Given the description of an element on the screen output the (x, y) to click on. 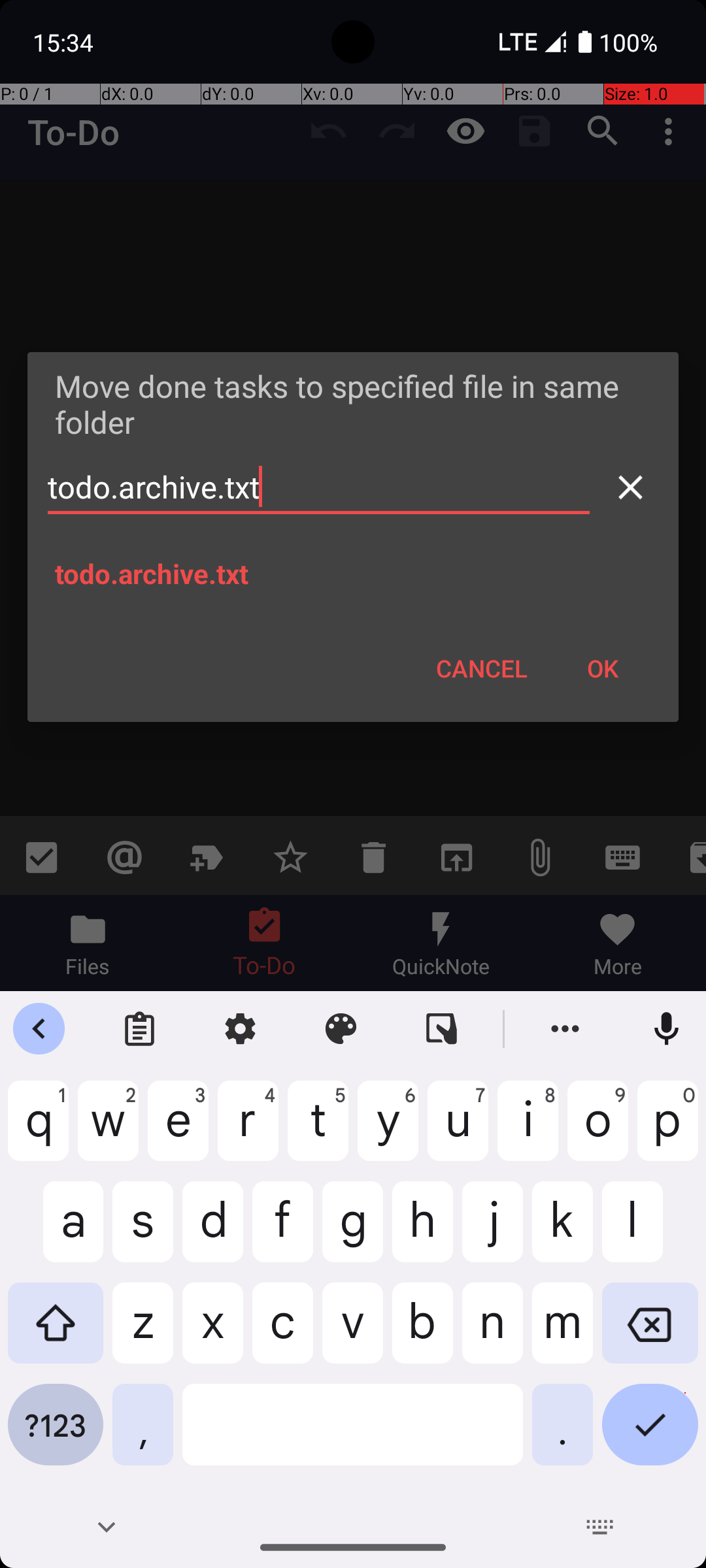
Move done tasks to specified file in same folder Element type: android.widget.TextView (352, 403)
todo.archive.txt Element type: android.widget.EditText (318, 486)
